Given the description of an element on the screen output the (x, y) to click on. 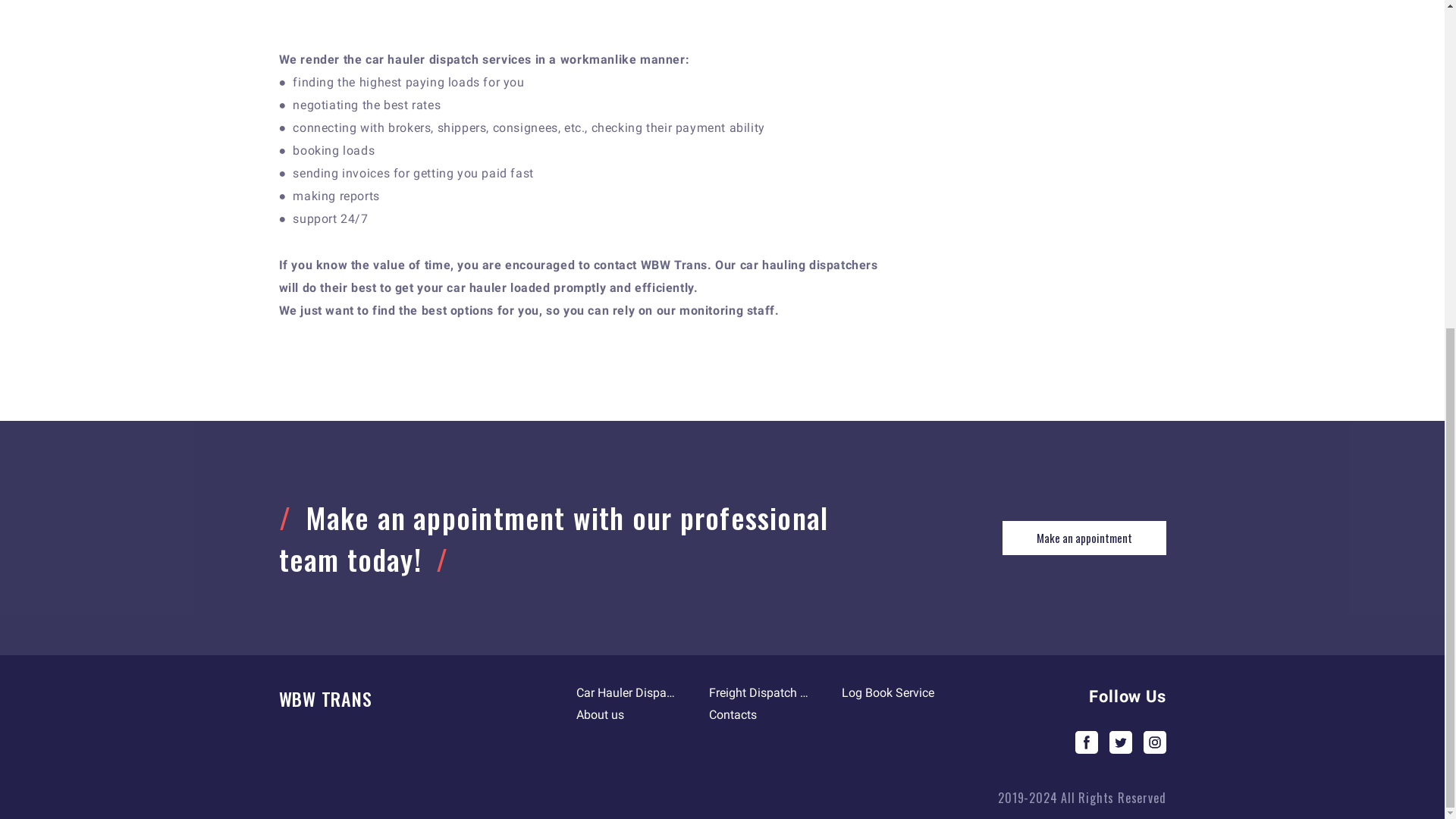
Log Book Service (887, 692)
WBW TRANS (381, 698)
Contacts (733, 714)
Car Hauler Dispatch Services (627, 692)
About us (600, 714)
Freight Dispatch Services (759, 692)
Make an appointment (1084, 537)
